Given the description of an element on the screen output the (x, y) to click on. 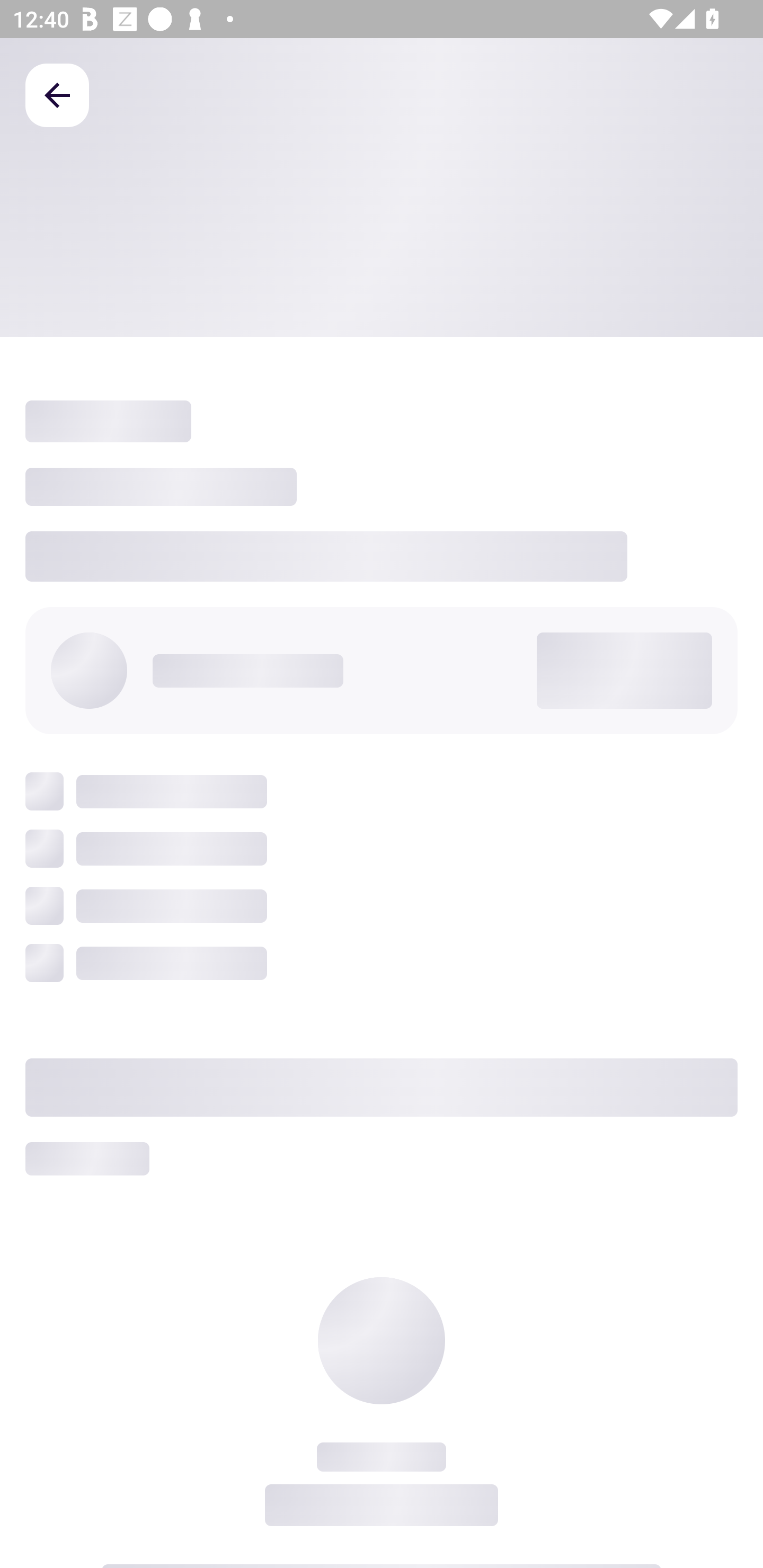
Back (57, 94)
